Given the description of an element on the screen output the (x, y) to click on. 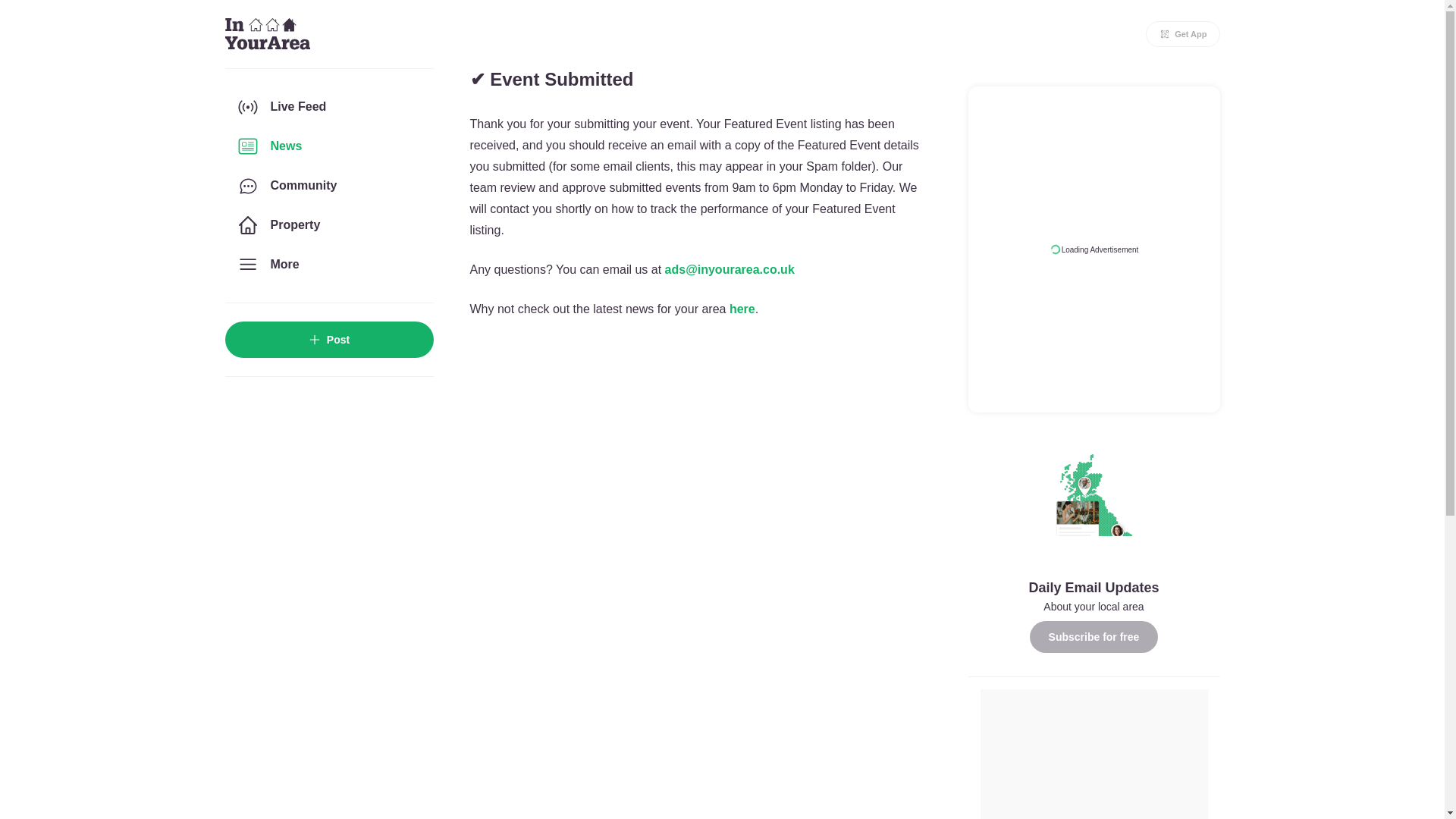
Post (328, 339)
Live Feed (328, 106)
News (328, 146)
here (742, 308)
Property (328, 224)
Get App (1182, 33)
Get App (1182, 33)
Community (328, 185)
